Given the description of an element on the screen output the (x, y) to click on. 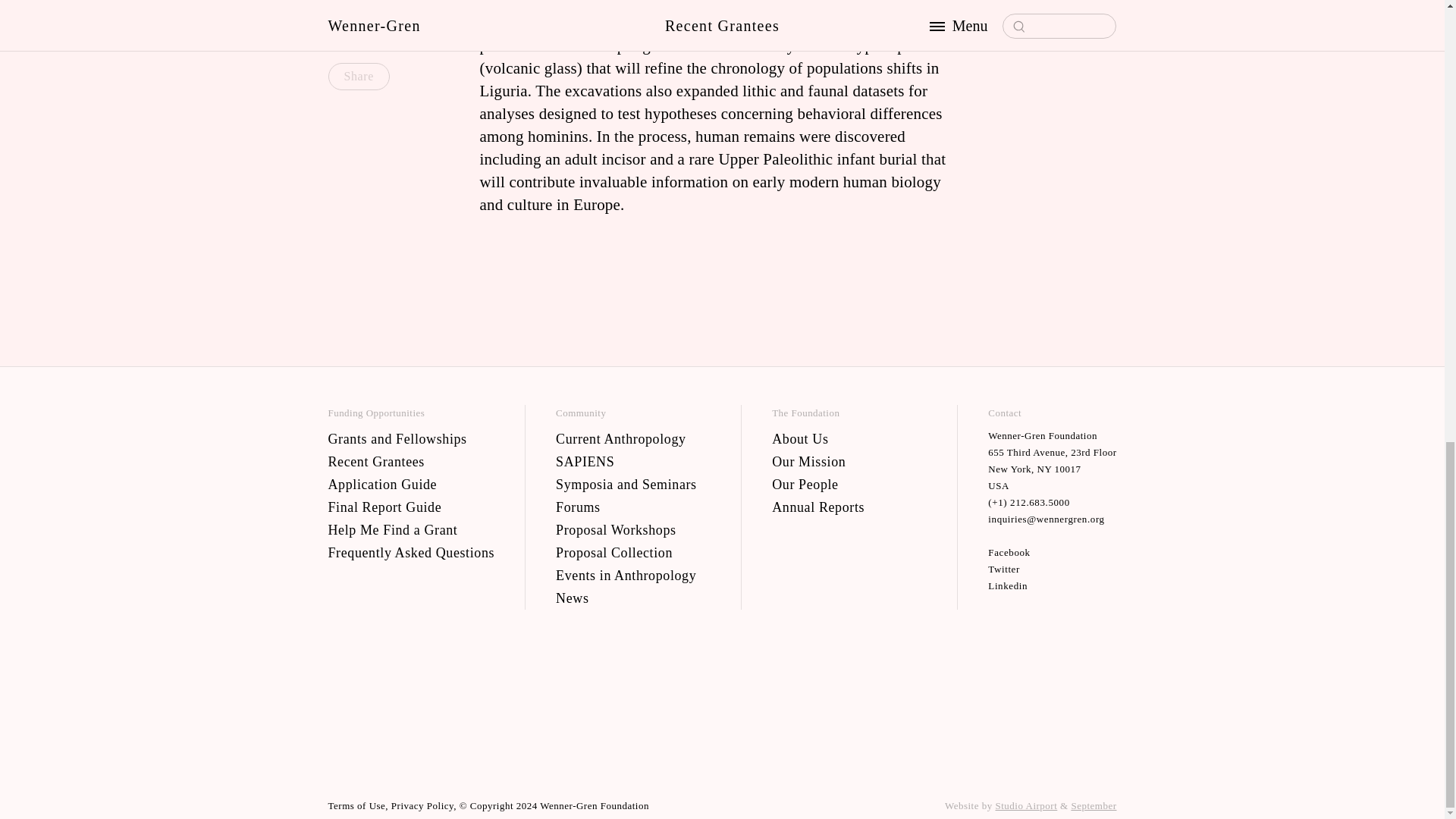
Application Guide (411, 483)
Final Report Guide (411, 506)
linkedin (1052, 585)
facebook (1052, 551)
Recent Grantees (411, 460)
Frequently Asked Questions (411, 551)
Current Anthropology (633, 437)
twitter (1052, 568)
Symposia and Seminars (633, 483)
Grants and Fellowships (411, 437)
SAPIENS (633, 460)
Help Me Find a Grant (411, 528)
Proposal Workshops (633, 528)
Forums (633, 506)
